Given the description of an element on the screen output the (x, y) to click on. 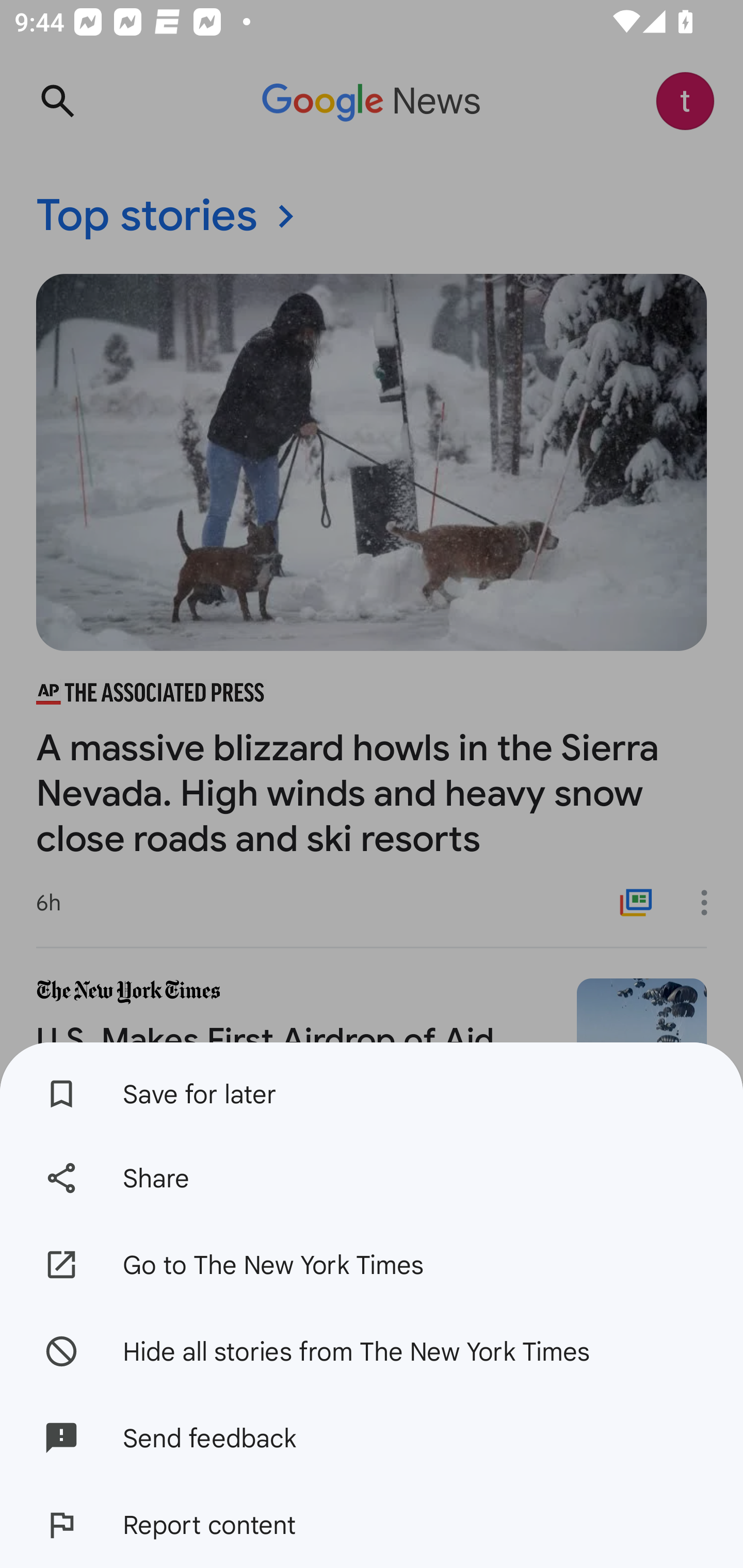
Save for later (371, 1088)
Share (371, 1178)
Go to The New York Times (371, 1264)
Hide all stories from The New York Times (371, 1350)
Send feedback (371, 1437)
Report content (371, 1524)
